Given the description of an element on the screen output the (x, y) to click on. 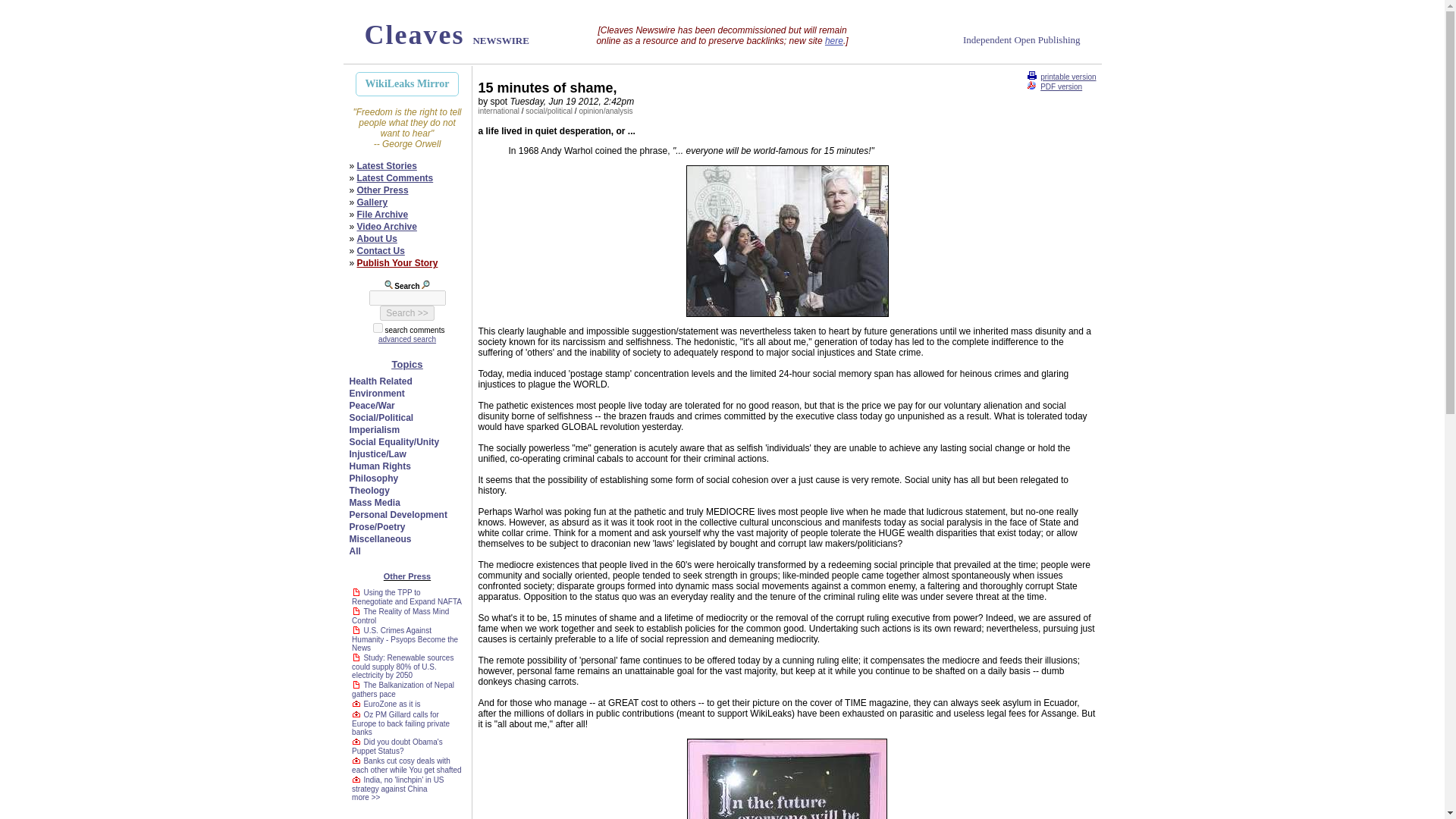
Contact Us (380, 250)
Publish Your Story (397, 262)
The Reality of Mass Mind Control (400, 615)
WikiLeaks Mirror (406, 84)
U.S. Crimes Against Humanity - Psyops Become the News (405, 638)
The Balkanization of Nepal gathers pace (403, 689)
Environment (376, 393)
Oz PM Gillard calls for Europe to back failing private banks (400, 723)
All (354, 551)
Imperialism (373, 429)
Other Press (382, 190)
Philosophy (373, 478)
advanced search (406, 338)
Latest Stories (386, 165)
here (834, 40)
